Given the description of an element on the screen output the (x, y) to click on. 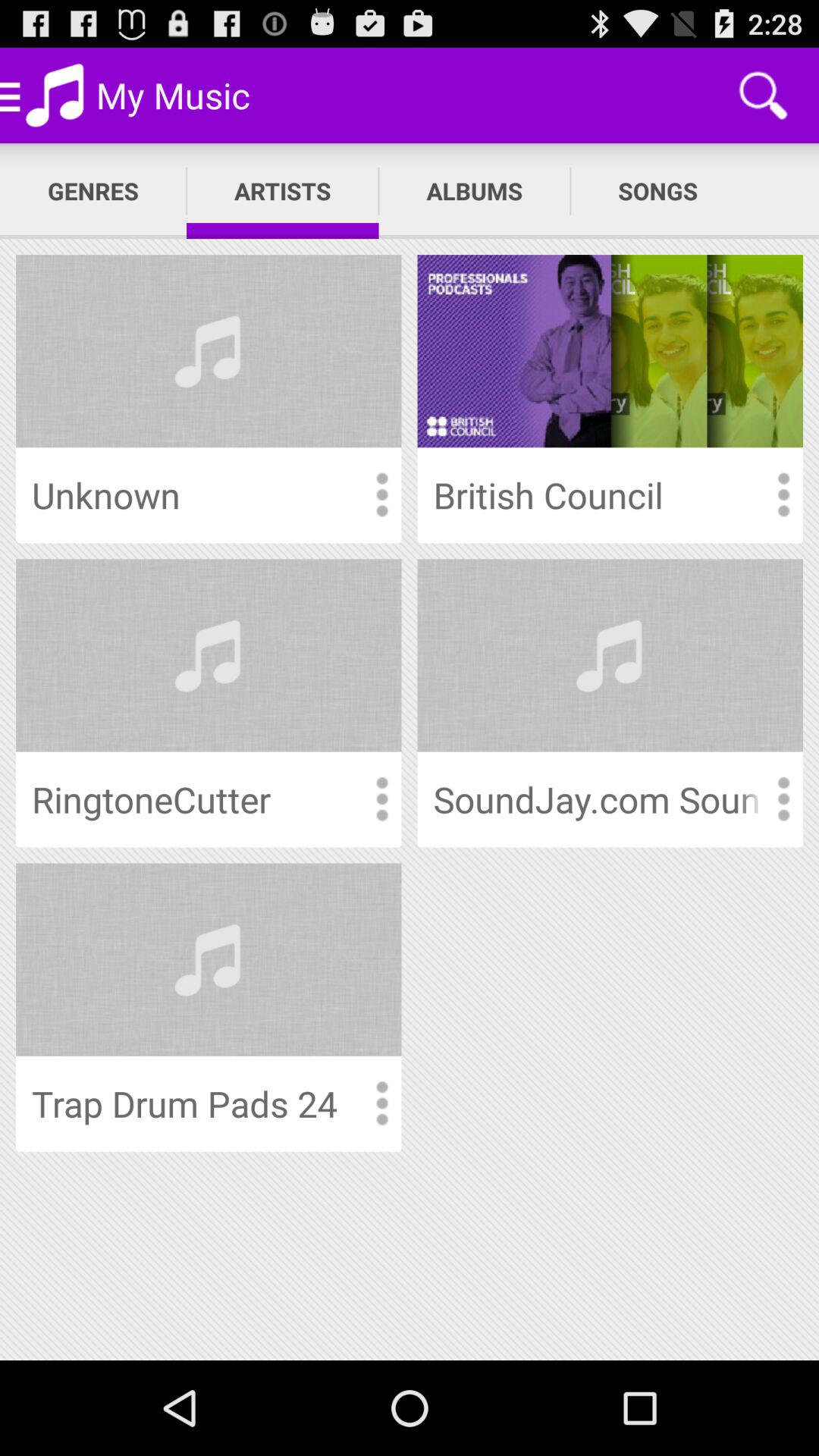
launch the item to the right of albums icon (657, 190)
